Given the description of an element on the screen output the (x, y) to click on. 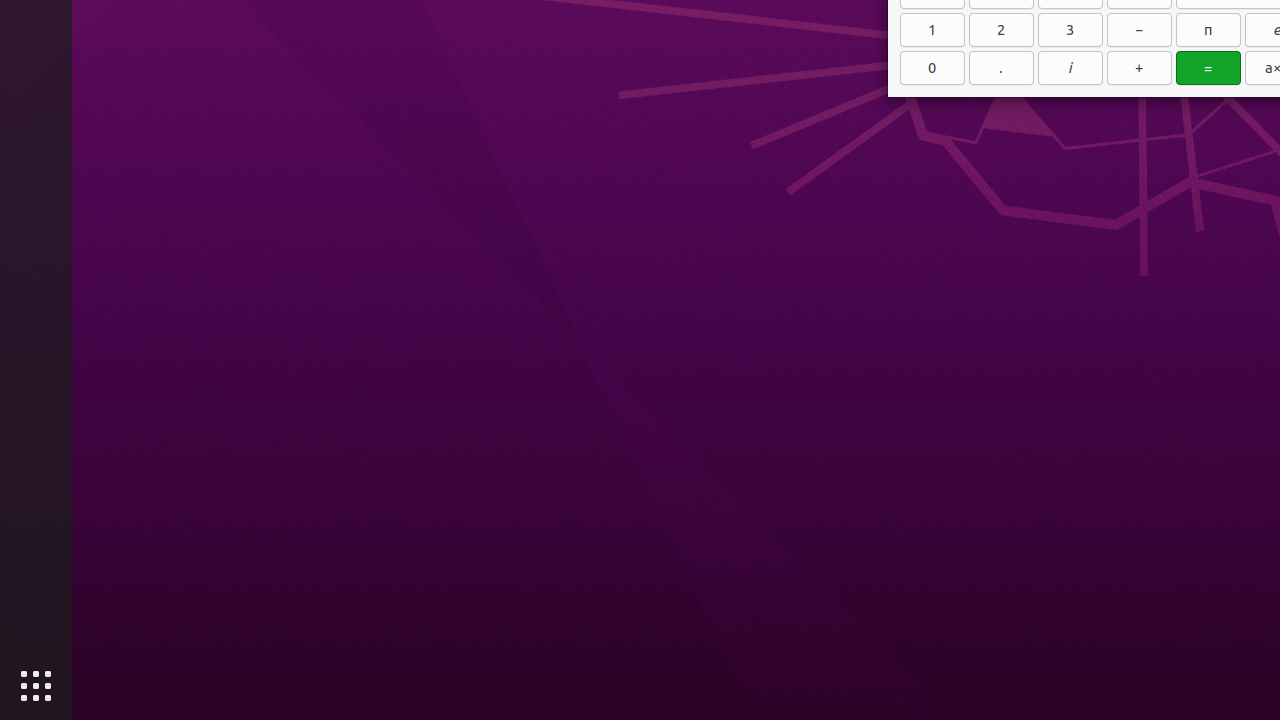
π Element type: push-button (1208, 29)
1 Element type: push-button (932, 29)
0 Element type: push-button (932, 68)
. Element type: push-button (1001, 68)
i Element type: push-button (1070, 68)
